Given the description of an element on the screen output the (x, y) to click on. 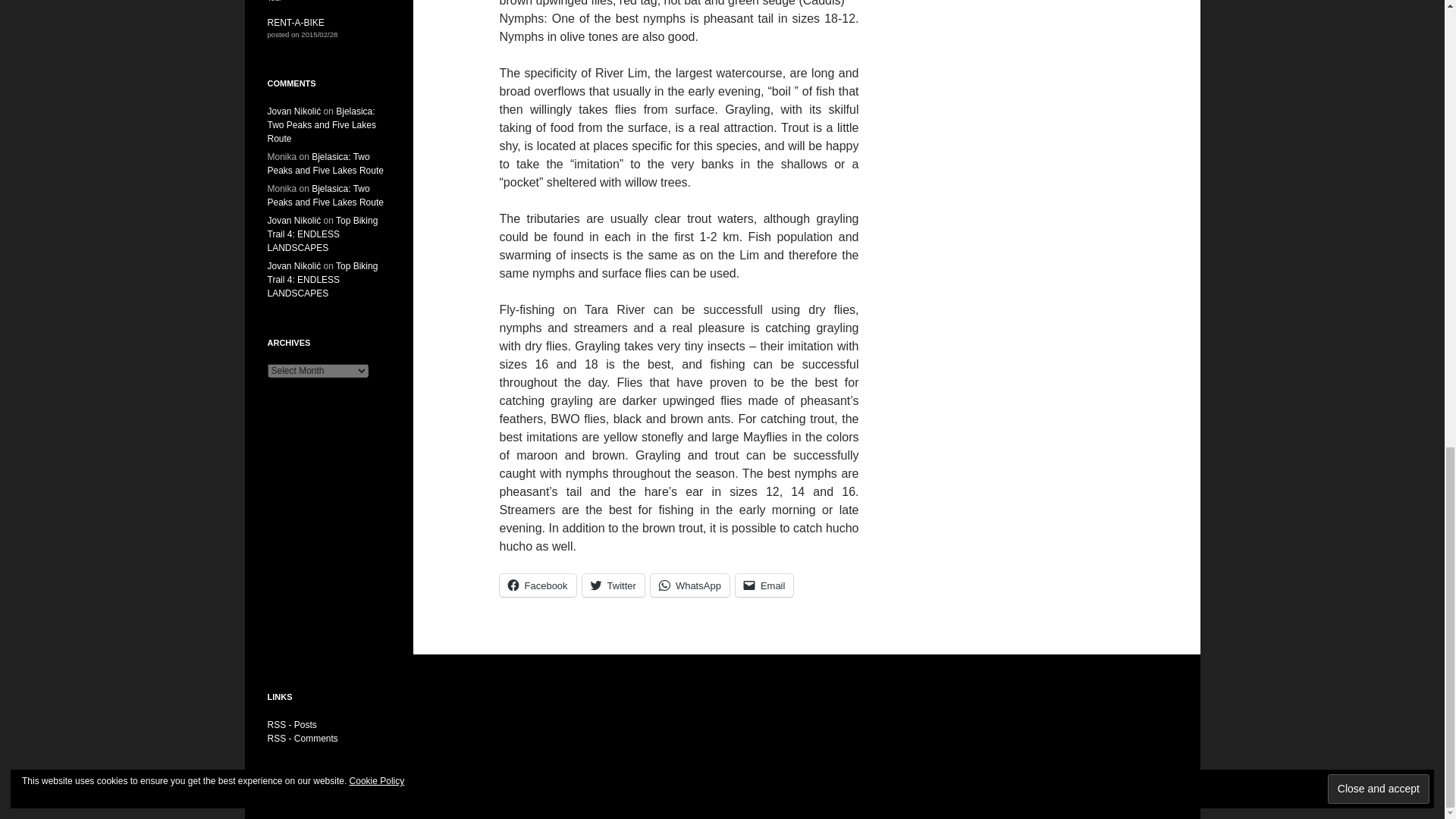
Click to email a link to a friend (764, 585)
Click to share on Twitter (613, 585)
Click to share on WhatsApp (689, 585)
Subscribe to posts (290, 724)
Click to share on Facebook (537, 585)
Subscribe to comments (301, 738)
